Given the description of an element on the screen output the (x, y) to click on. 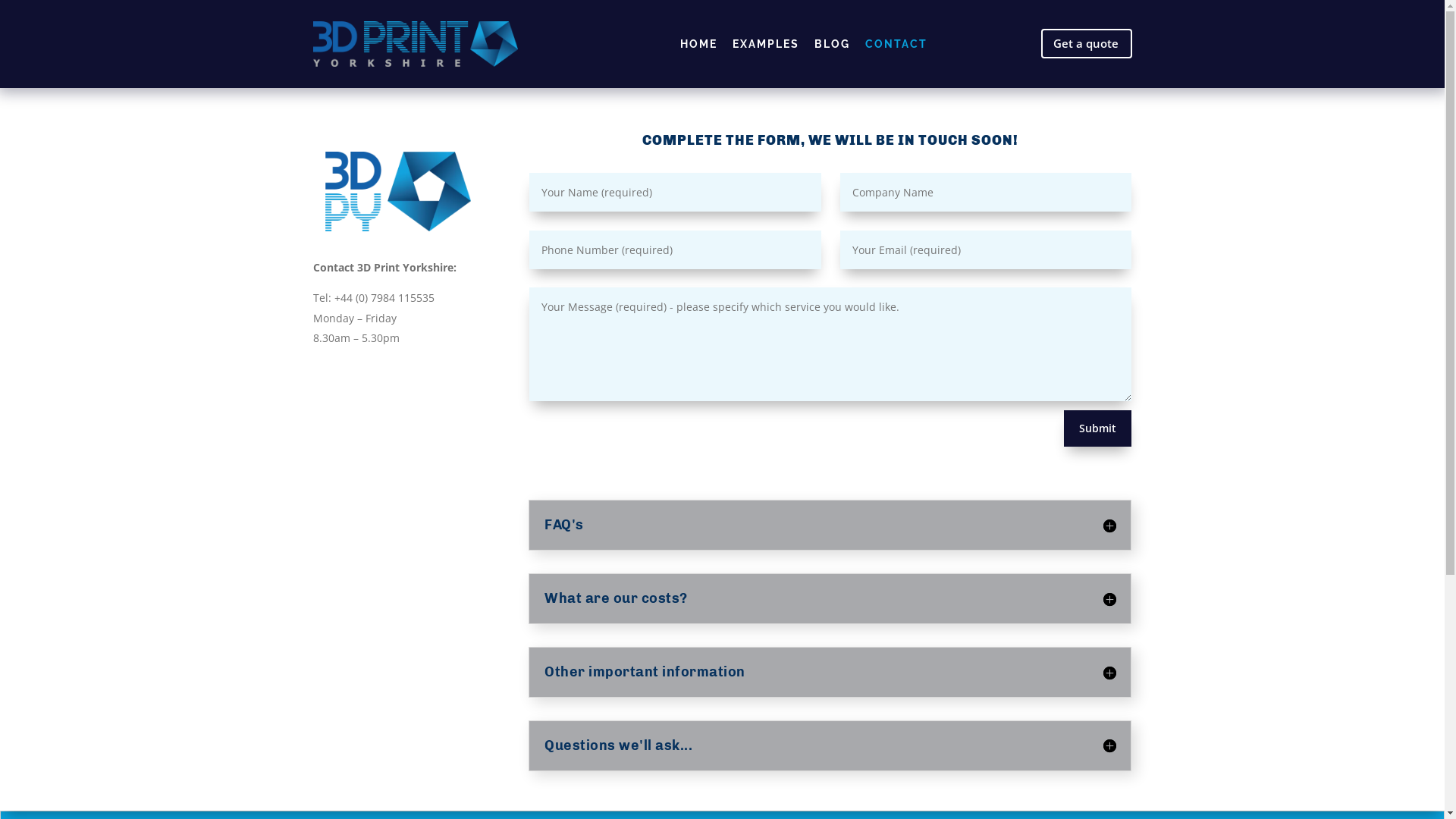
HOME Element type: text (698, 43)
Get a quote Element type: text (1085, 43)
3d Print Yorkshire compact logo. Element type: hover (397, 191)
EXAMPLES Element type: text (765, 43)
BLOG Element type: text (832, 43)
Submit Element type: text (1097, 428)
CONTACT Element type: text (896, 43)
